Given the description of an element on the screen output the (x, y) to click on. 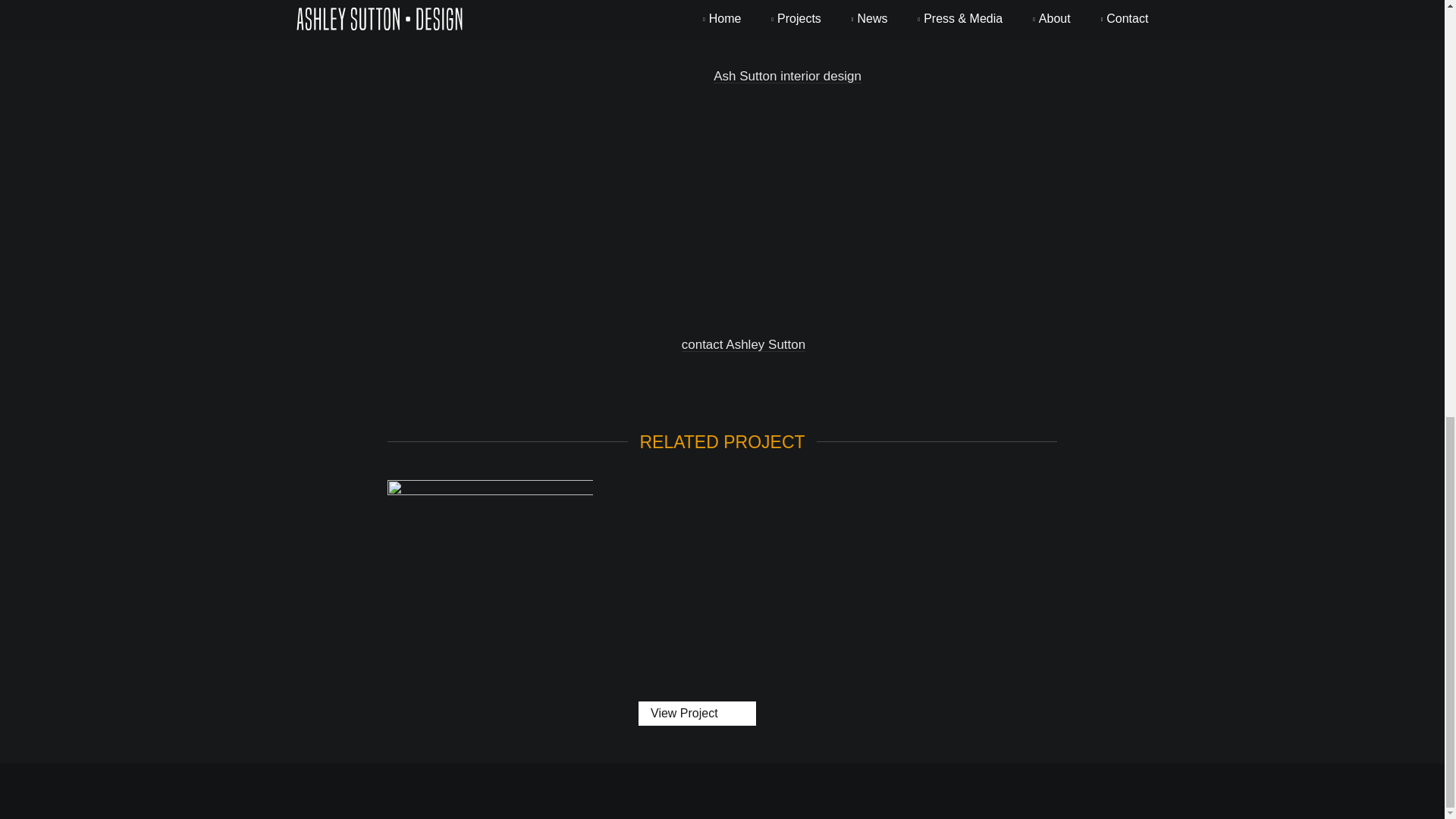
View Project (697, 713)
contact Ashley Sutton (743, 344)
Ash Sutton interior design (787, 75)
Sing Sing Theater (489, 566)
